Given the description of an element on the screen output the (x, y) to click on. 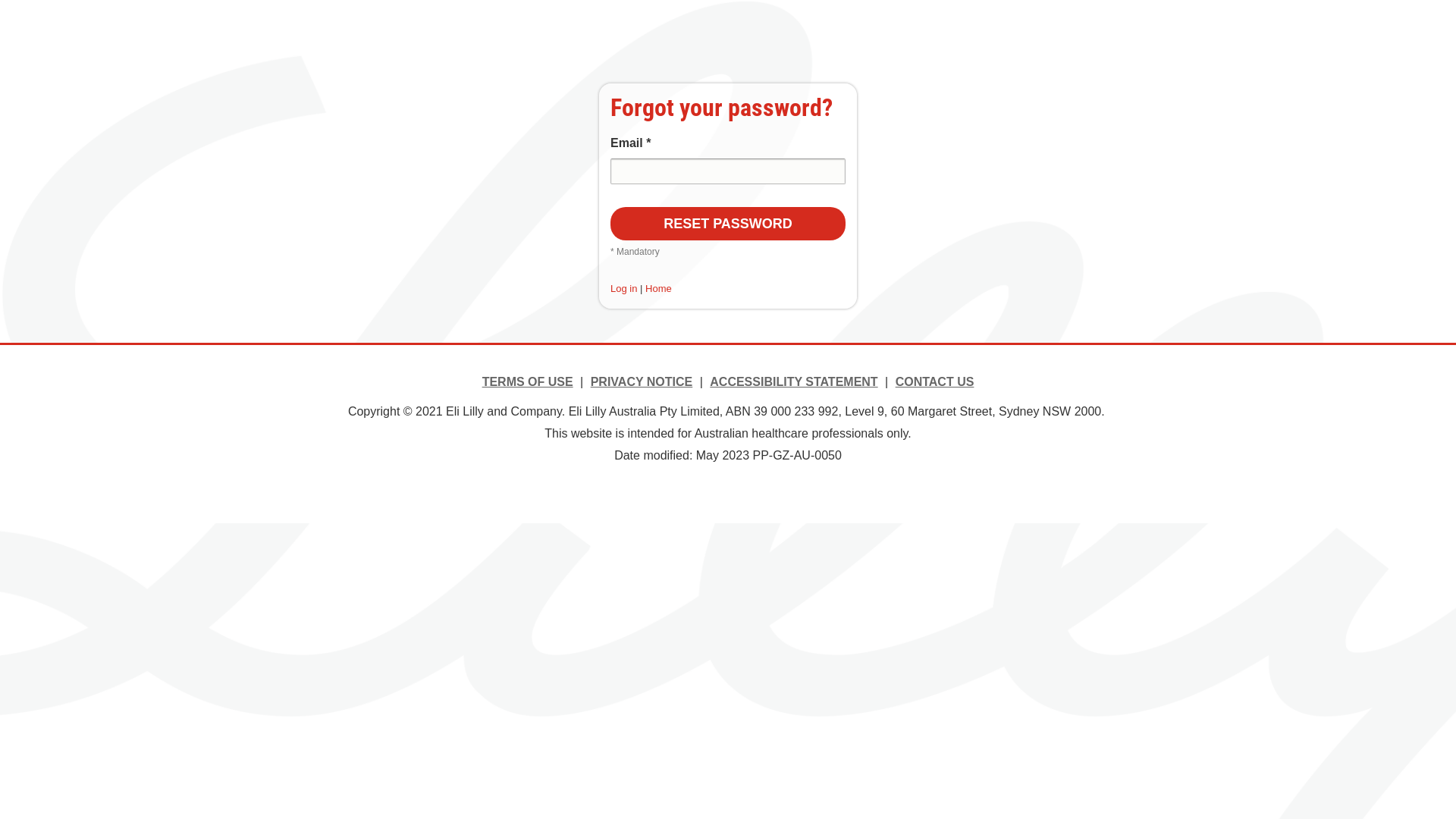
CONTACT US Element type: text (934, 381)
PRIVACY NOTICE Element type: text (641, 381)
Home Element type: text (658, 288)
TERMS OF USE Element type: text (527, 381)
Log in Element type: text (623, 288)
Skip to main content Element type: text (0, 0)
ACCESSIBILITY STATEMENT Element type: text (793, 381)
RESET PASSWORD Element type: text (727, 223)
